Given the description of an element on the screen output the (x, y) to click on. 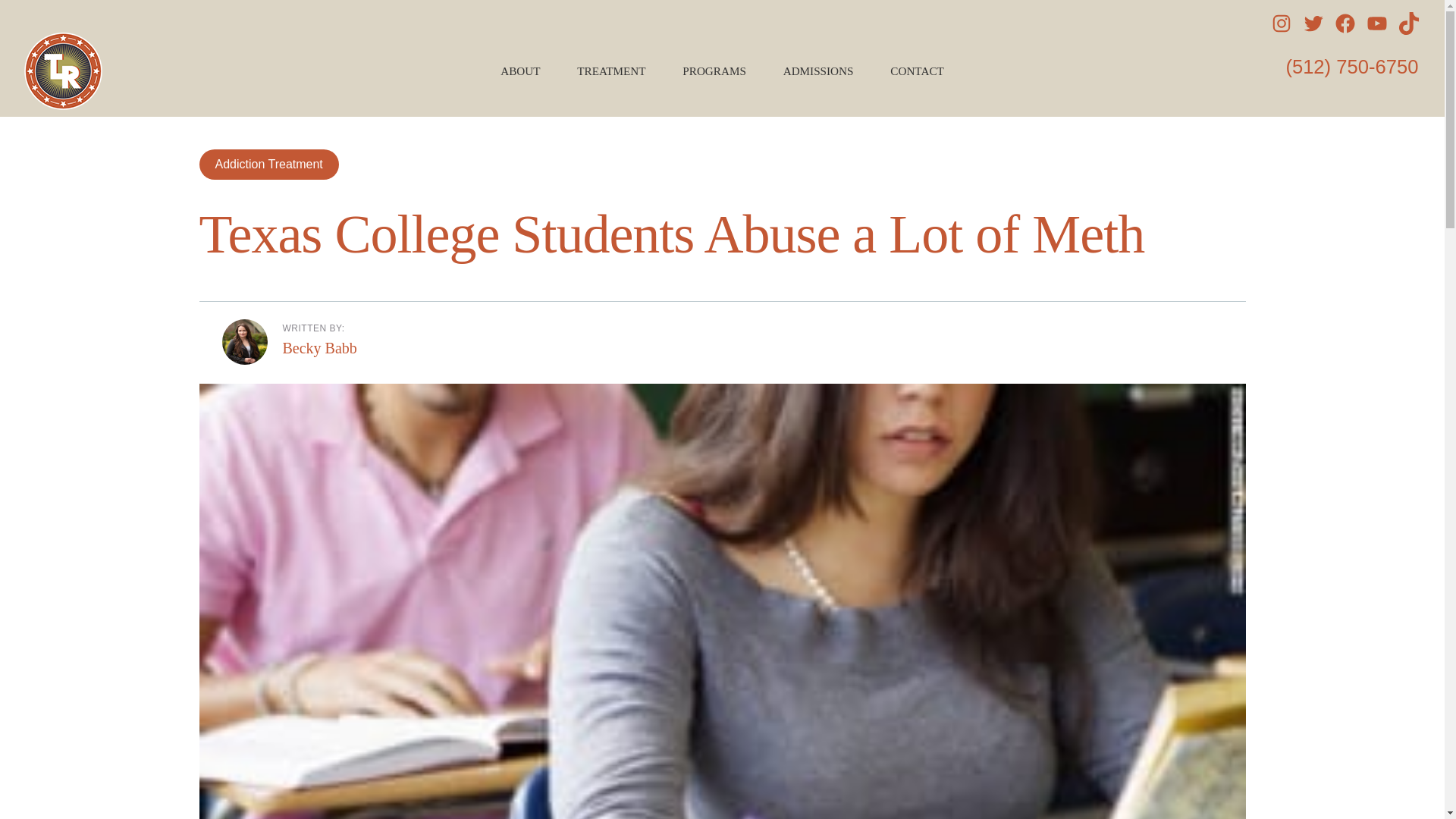
YouTube (1377, 23)
PROGRAMS (719, 71)
TikTok (1409, 23)
Twitter (1312, 23)
TREATMENT (616, 71)
Facebook (1344, 23)
Instagram (1280, 23)
